Given the description of an element on the screen output the (x, y) to click on. 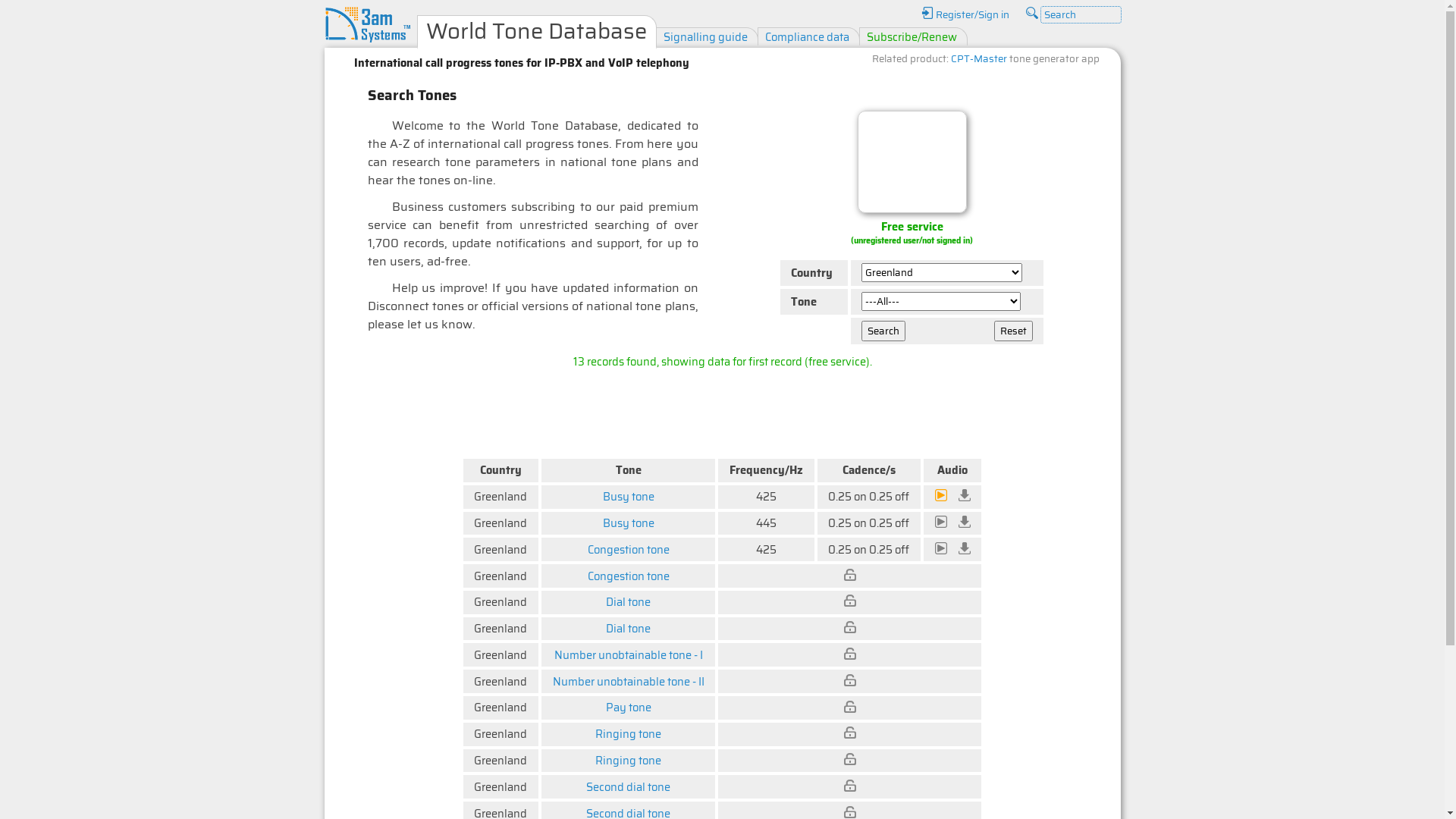
Second dial tone Element type: text (628, 786)
Dial tone Element type: text (627, 628)
Subscribe/Renew Element type: text (911, 36)
Congestion tone Element type: text (628, 549)
Congestion tone Element type: text (628, 575)
Ringing tone Element type: text (628, 759)
Register/Sign in Element type: text (965, 14)
Reset Element type: text (1013, 330)
Busy tone Element type: text (628, 522)
Busy tone Element type: text (628, 496)
Pay tone Element type: text (628, 706)
Signalling guide Element type: text (705, 36)
Compliance data Element type: text (807, 36)
Ringing tone Element type: text (628, 733)
Dial tone Element type: text (627, 601)
Number unobtainable tone - II Element type: text (628, 681)
Search Element type: text (883, 330)
Advertisement Element type: hover (722, 410)
Number unobtainable tone - I Element type: text (628, 654)
CPT-Master Element type: text (978, 58)
